Given the description of an element on the screen output the (x, y) to click on. 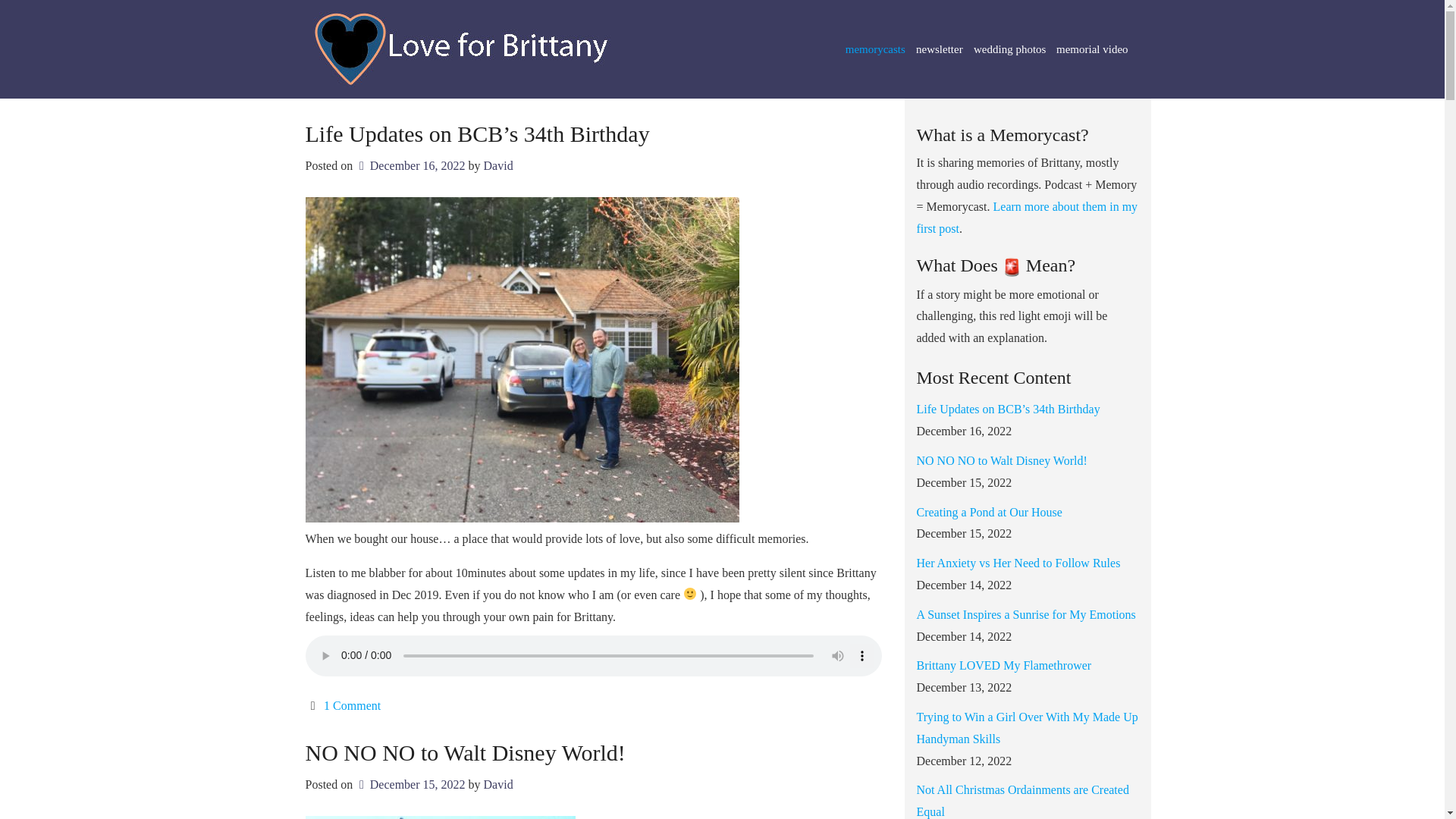
NO NO NO to Walt Disney World! (464, 752)
memorial video (1091, 49)
1 Comment (351, 705)
newsletter (939, 49)
December 15, 2022 (409, 784)
December 16, 2022 (409, 164)
David (498, 784)
wedding photos (1009, 49)
memorycasts (874, 49)
David (498, 164)
